Given the description of an element on the screen output the (x, y) to click on. 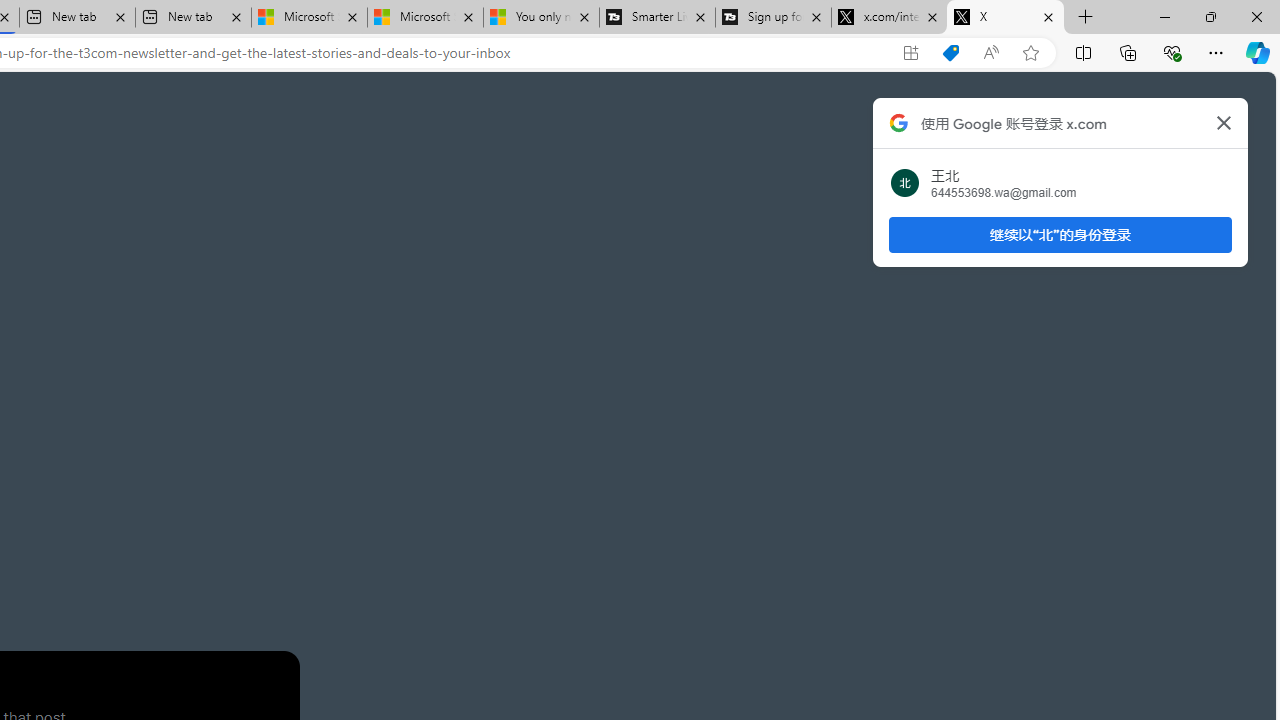
Class: Bz112c Bz112c-r9oPif (1224, 122)
Smarter Living | T3 (657, 17)
App available. Install X (910, 53)
